Given the description of an element on the screen output the (x, y) to click on. 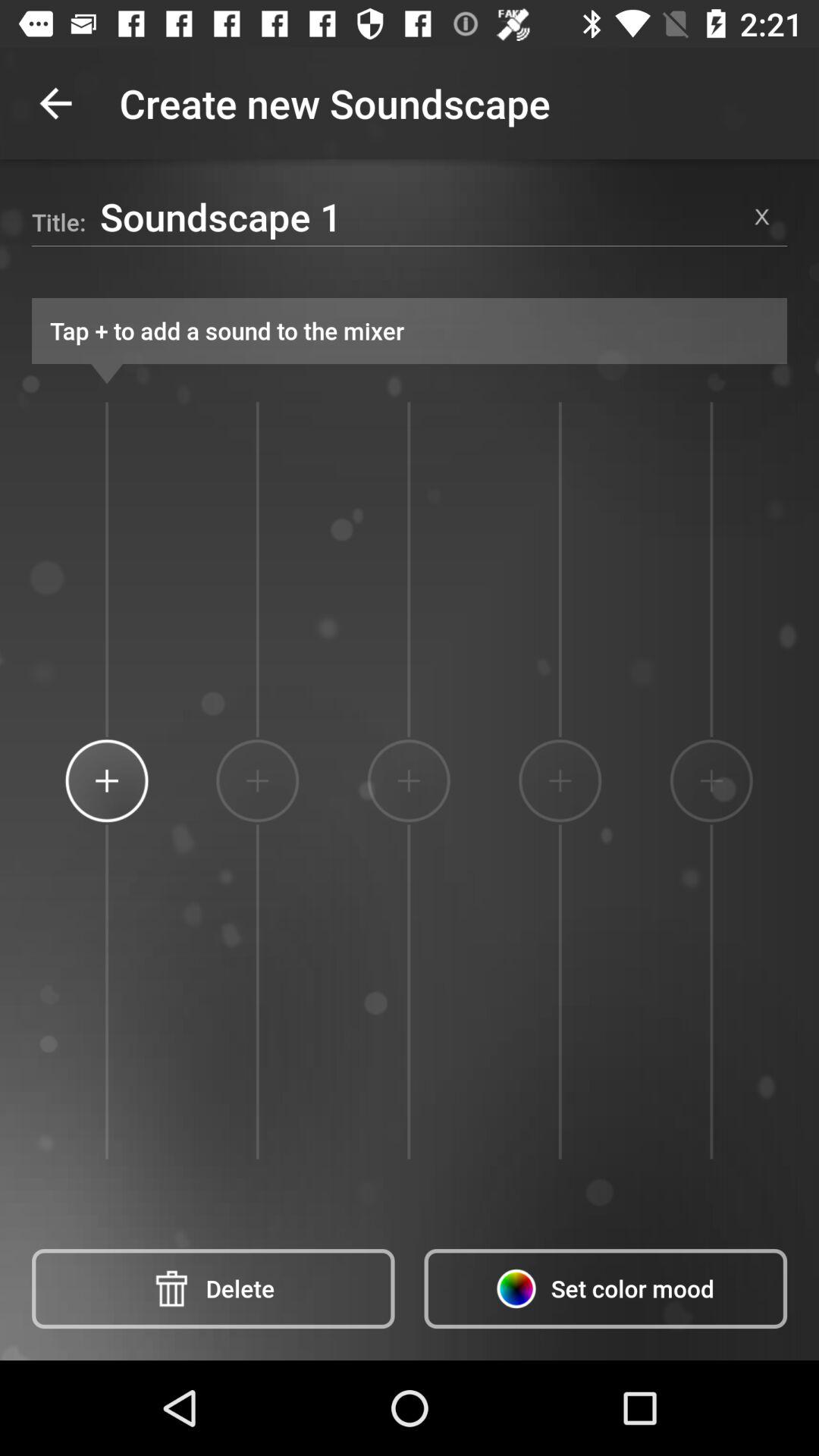
turn on the item at the top right corner (762, 216)
